Given the description of an element on the screen output the (x, y) to click on. 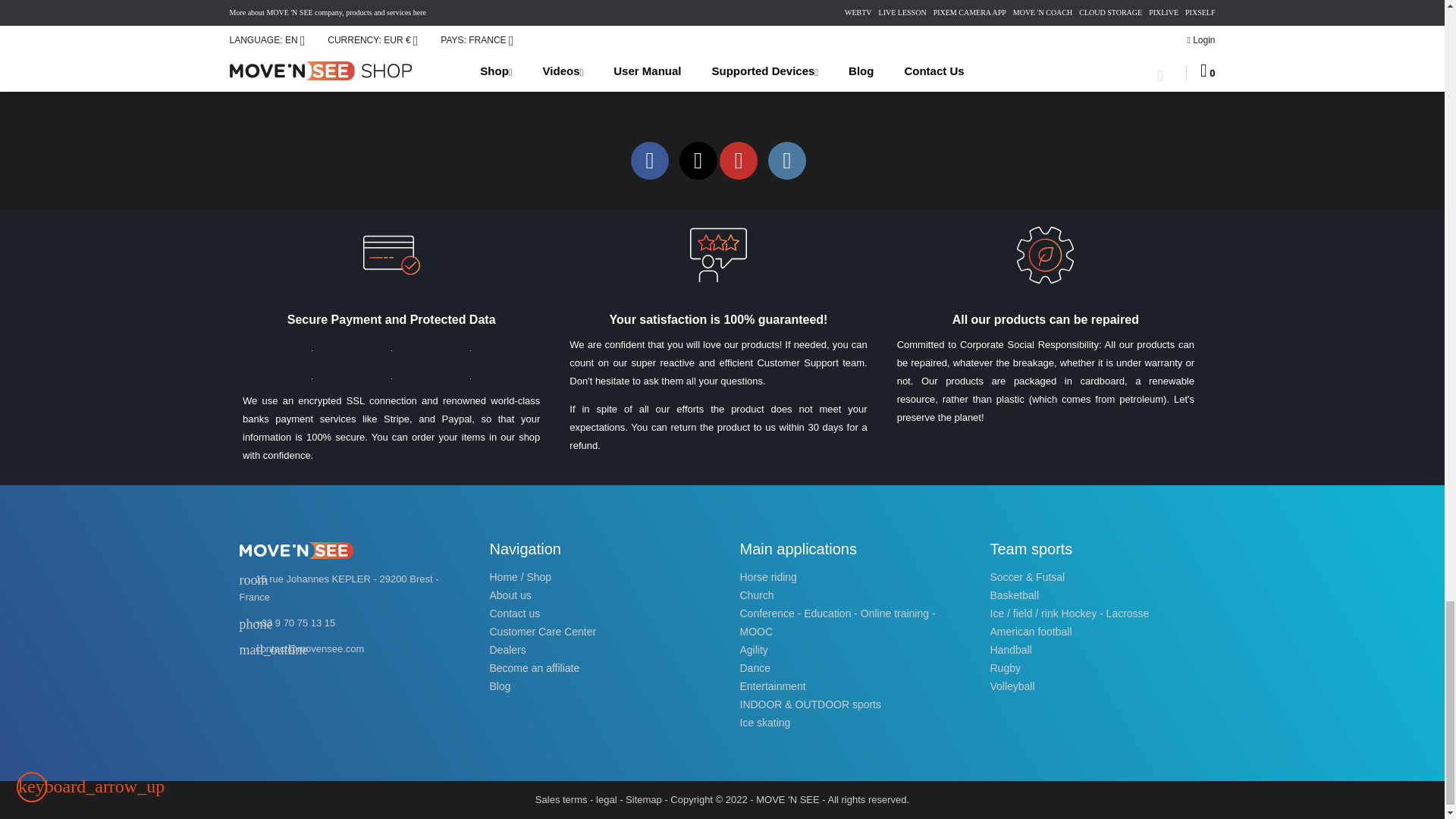
 Subscribe     (877, 45)
